Given the description of an element on the screen output the (x, y) to click on. 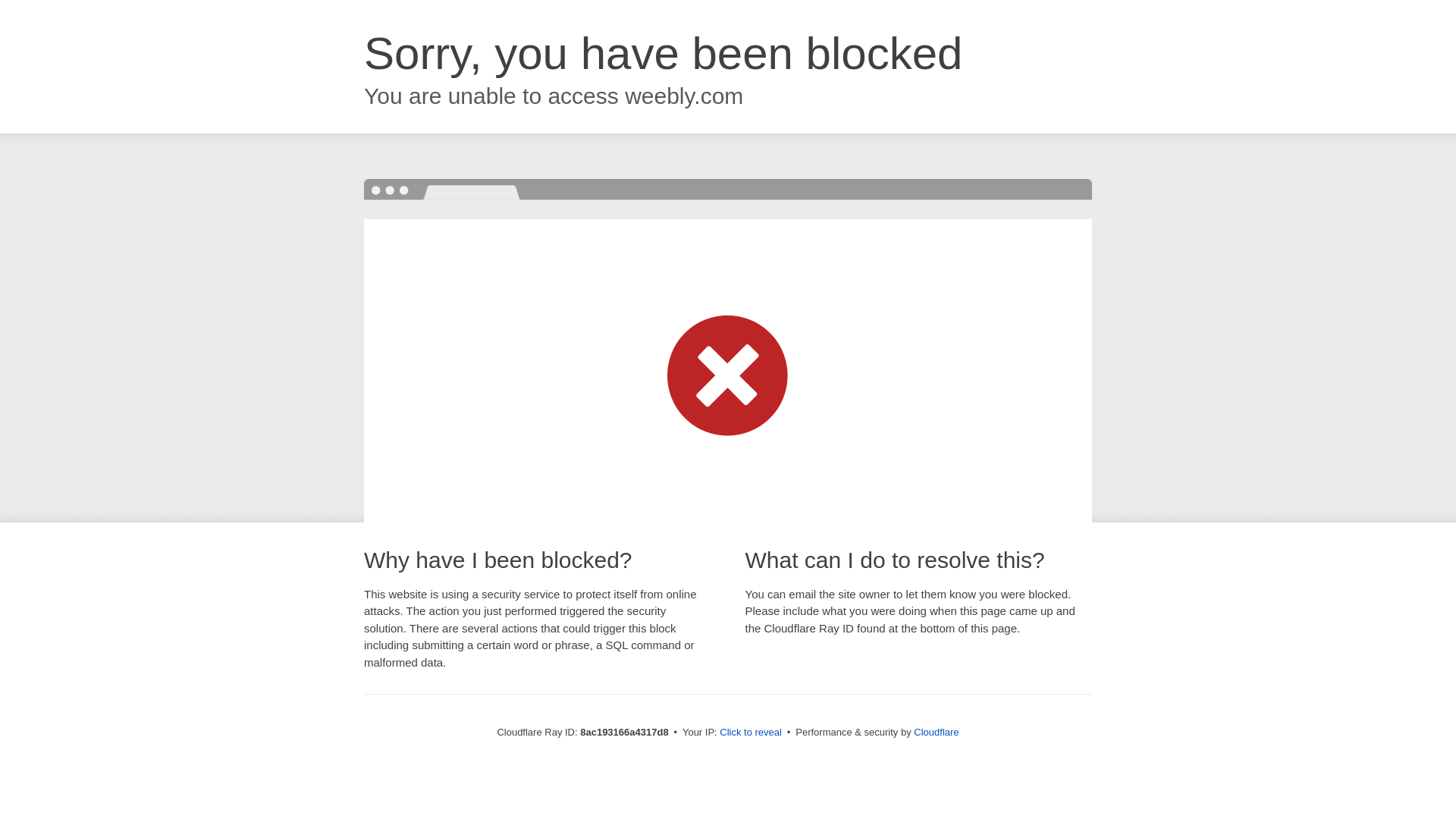
Click to reveal (750, 732)
Cloudflare (936, 731)
